Given the description of an element on the screen output the (x, y) to click on. 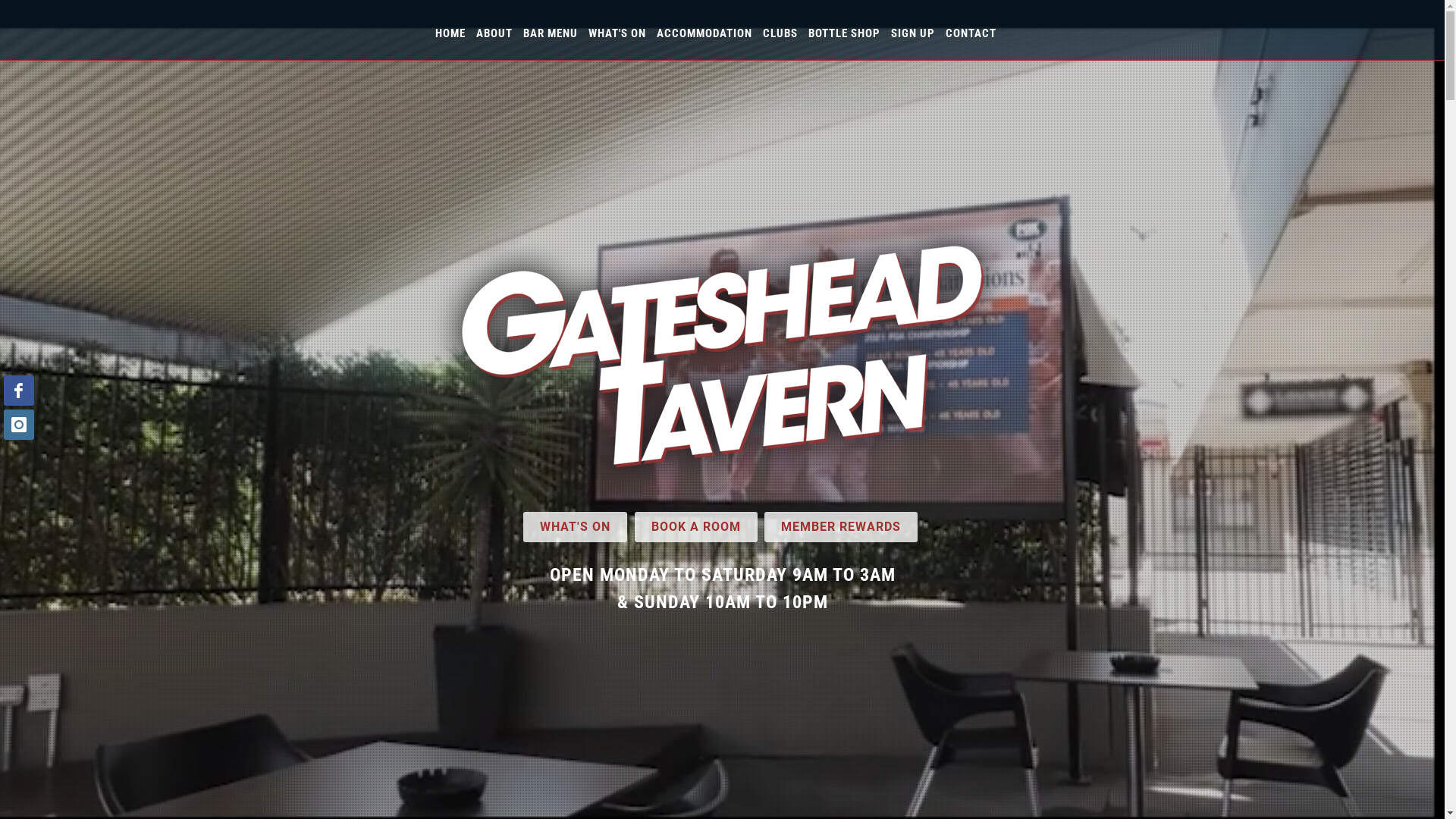
ABOUT Element type: text (494, 33)
SIGN UP Element type: text (911, 33)
CONTACT Element type: text (970, 33)
BOOK A ROOM Element type: text (695, 526)
HOME Element type: text (450, 33)
CLUBS Element type: text (780, 33)
BOTTLE SHOP Element type: text (843, 33)
WHAT'S ON Element type: text (574, 526)
BAR MENU Element type: text (550, 33)
MEMBER REWARDS Element type: text (840, 526)
ACCOMMODATION Element type: text (704, 33)
WHAT'S ON Element type: text (616, 33)
